Given the description of an element on the screen output the (x, y) to click on. 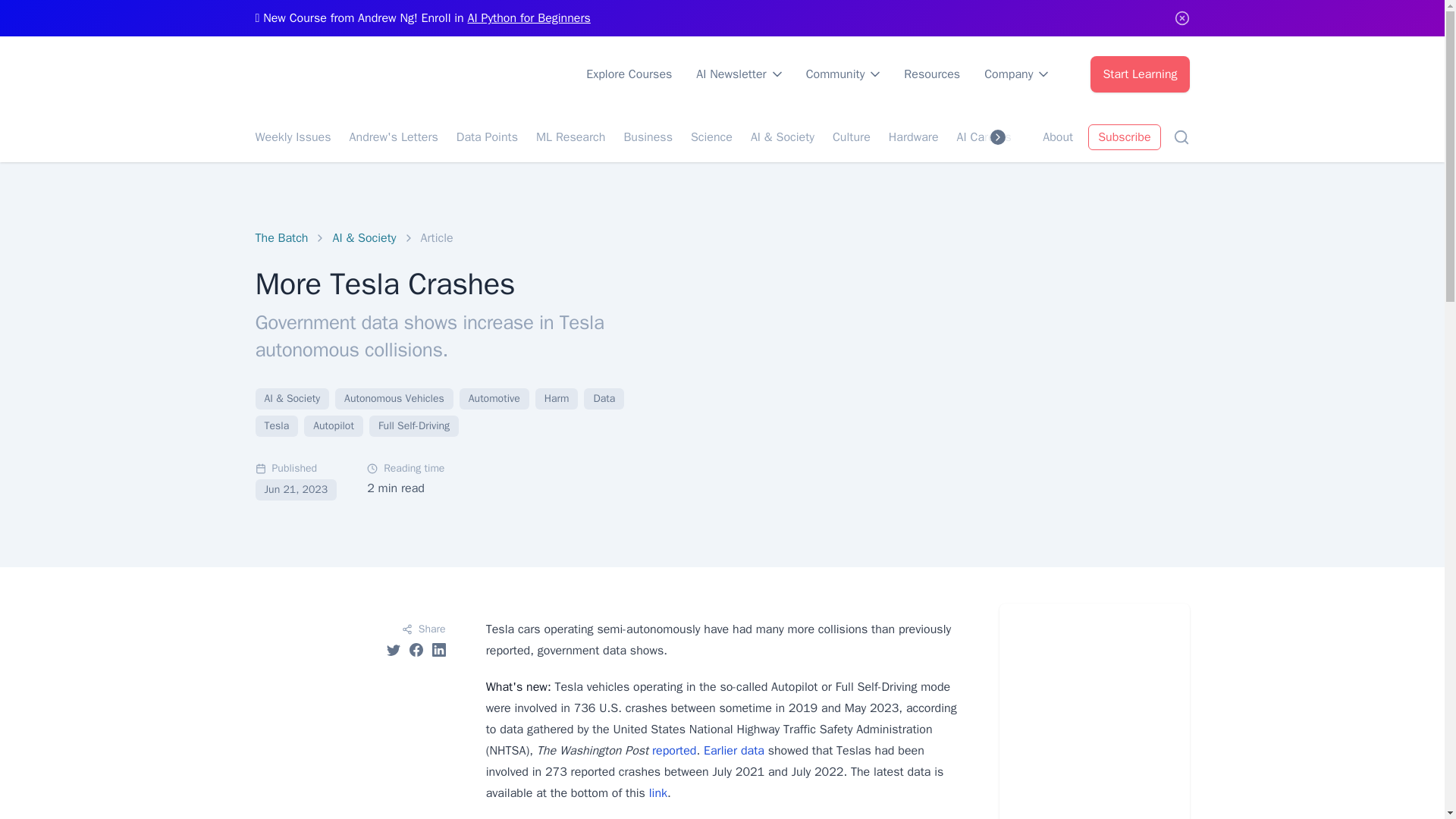
Subscribe (1123, 136)
Hardware (913, 137)
Resources (931, 74)
Andrew's Letters (393, 137)
The Batch (280, 238)
Company (1015, 74)
Weekly Issues (292, 137)
AI Newsletter (738, 74)
Community (842, 74)
AI Careers (983, 137)
